Given the description of an element on the screen output the (x, y) to click on. 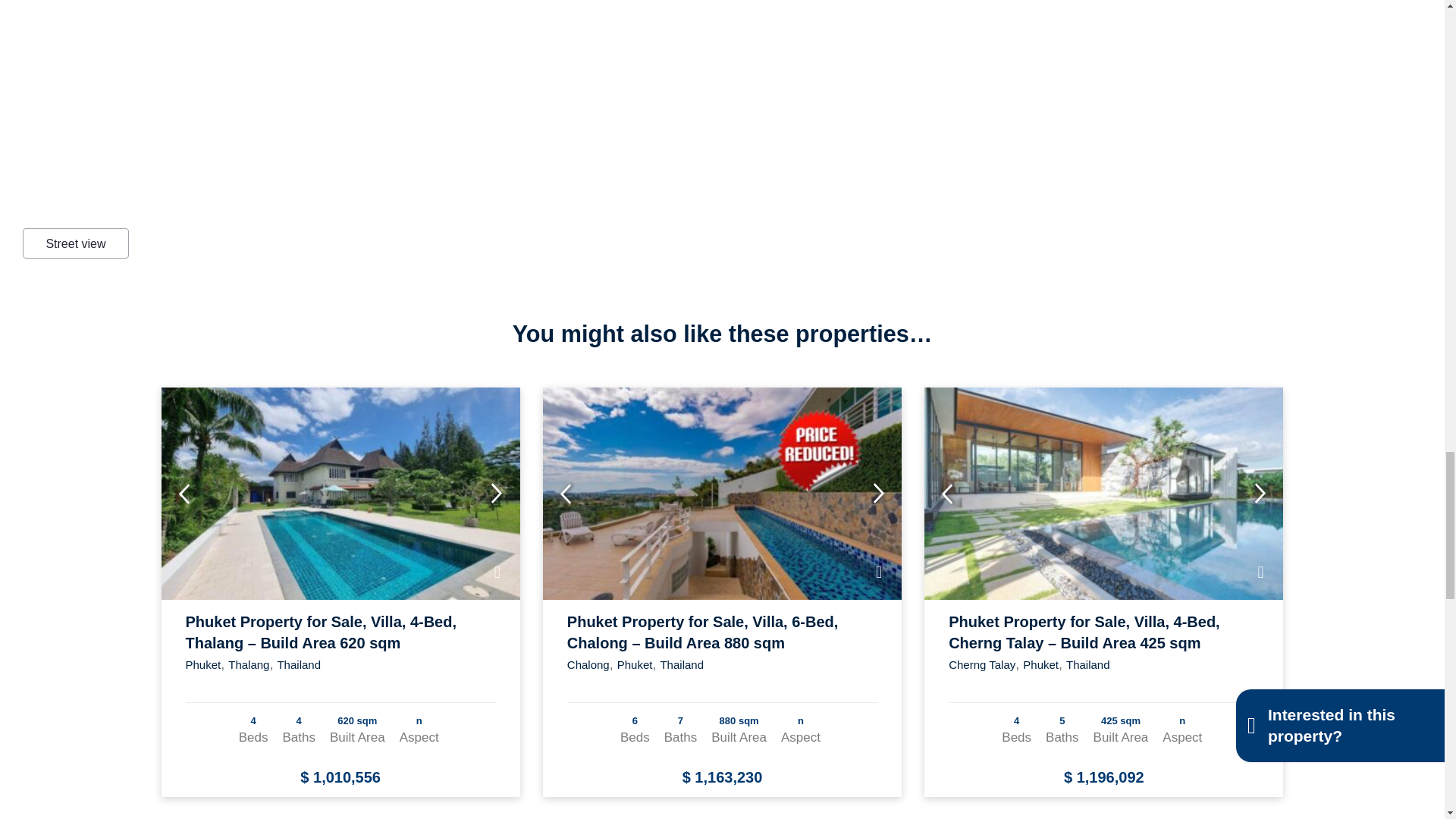
View all property in Chalong (588, 664)
View all property in Thalang (248, 664)
View all property in Thailand (298, 664)
View all property in Phuket (634, 664)
View all property in Phuket (202, 664)
